Given the description of an element on the screen output the (x, y) to click on. 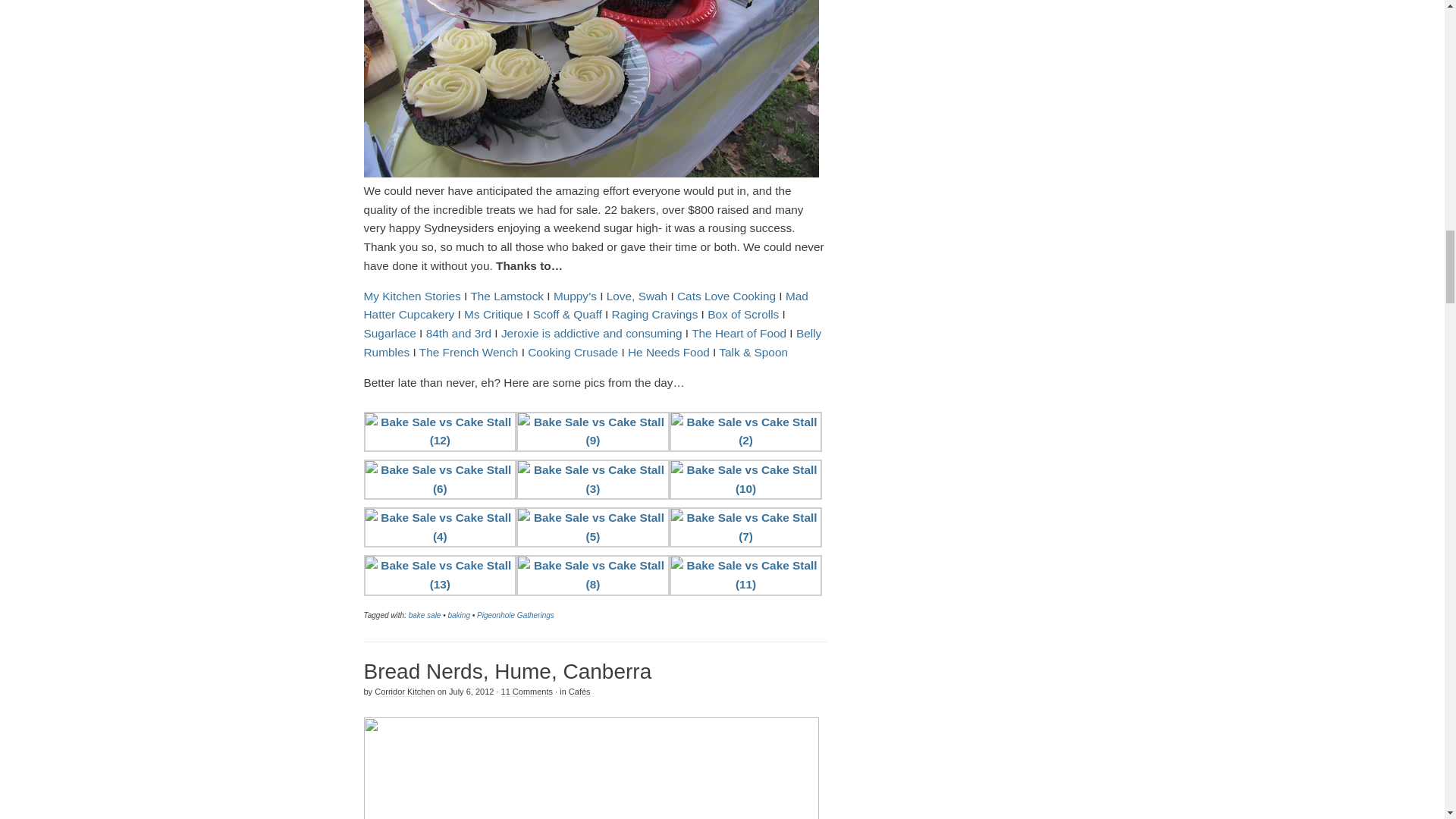
Bread Nerds, Hume, Canberra (508, 671)
Posts by Corridor Kitchen (403, 691)
96 (591, 768)
Ms Critique (493, 314)
Love, Swah (636, 295)
Mad Hatter Cupcakery (586, 305)
My Kitchen Stories (412, 295)
Cats Love Cooking (726, 295)
The Lamstock (506, 295)
